Given the description of an element on the screen output the (x, y) to click on. 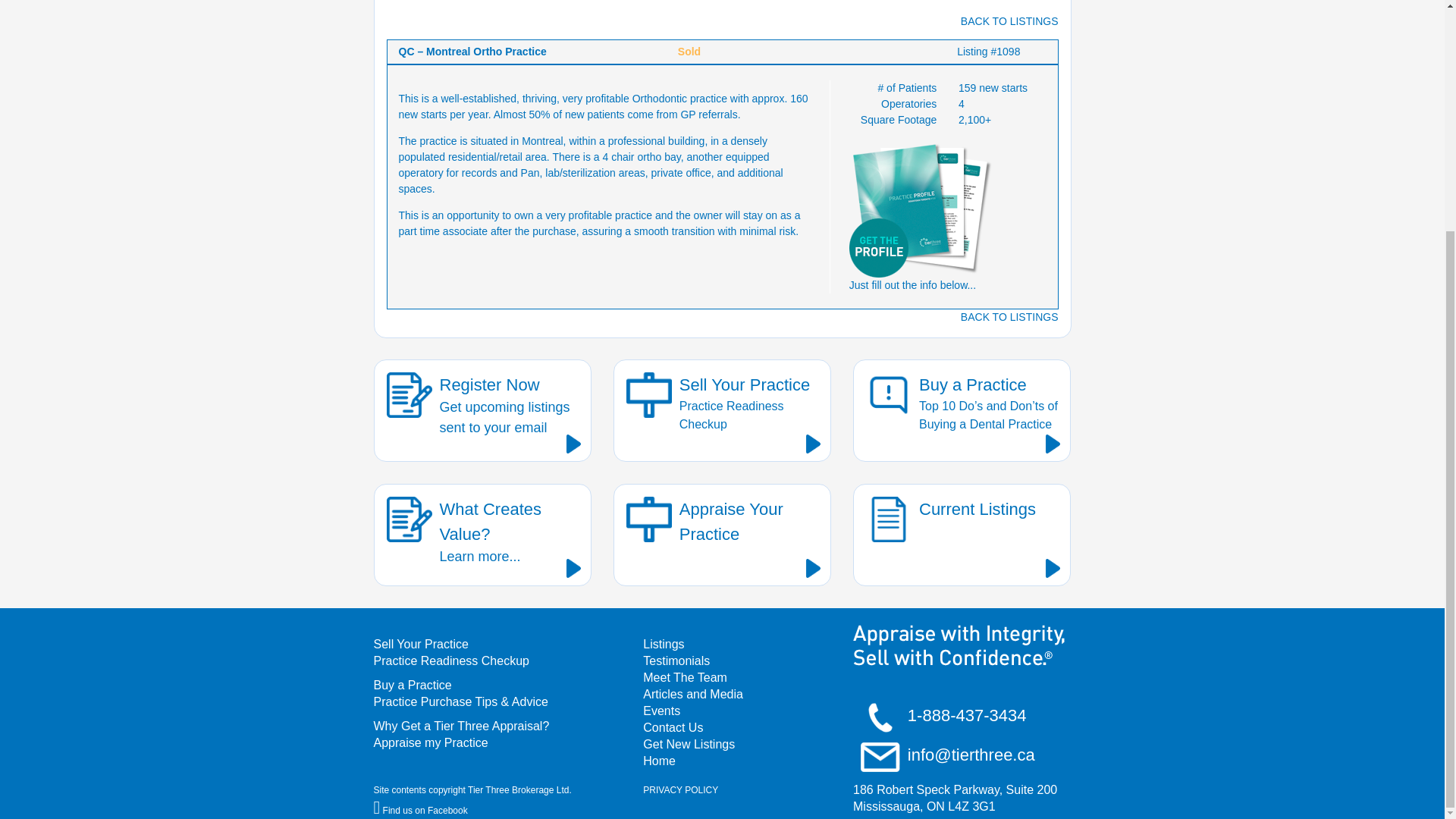
Articles and Media (762, 694)
Home (762, 760)
BACK TO LISTINGS (1009, 316)
Appraise Your Practice (721, 535)
Sell Your Practice (491, 644)
PRIVACY POLICY (737, 790)
Events (762, 710)
Buy a Practice (491, 685)
Get New Listings (481, 410)
Testimonials (481, 535)
Why Get a Tier Three Appraisal? (762, 744)
BACK TO LISTINGS (762, 660)
Current Listings (491, 726)
